Given the description of an element on the screen output the (x, y) to click on. 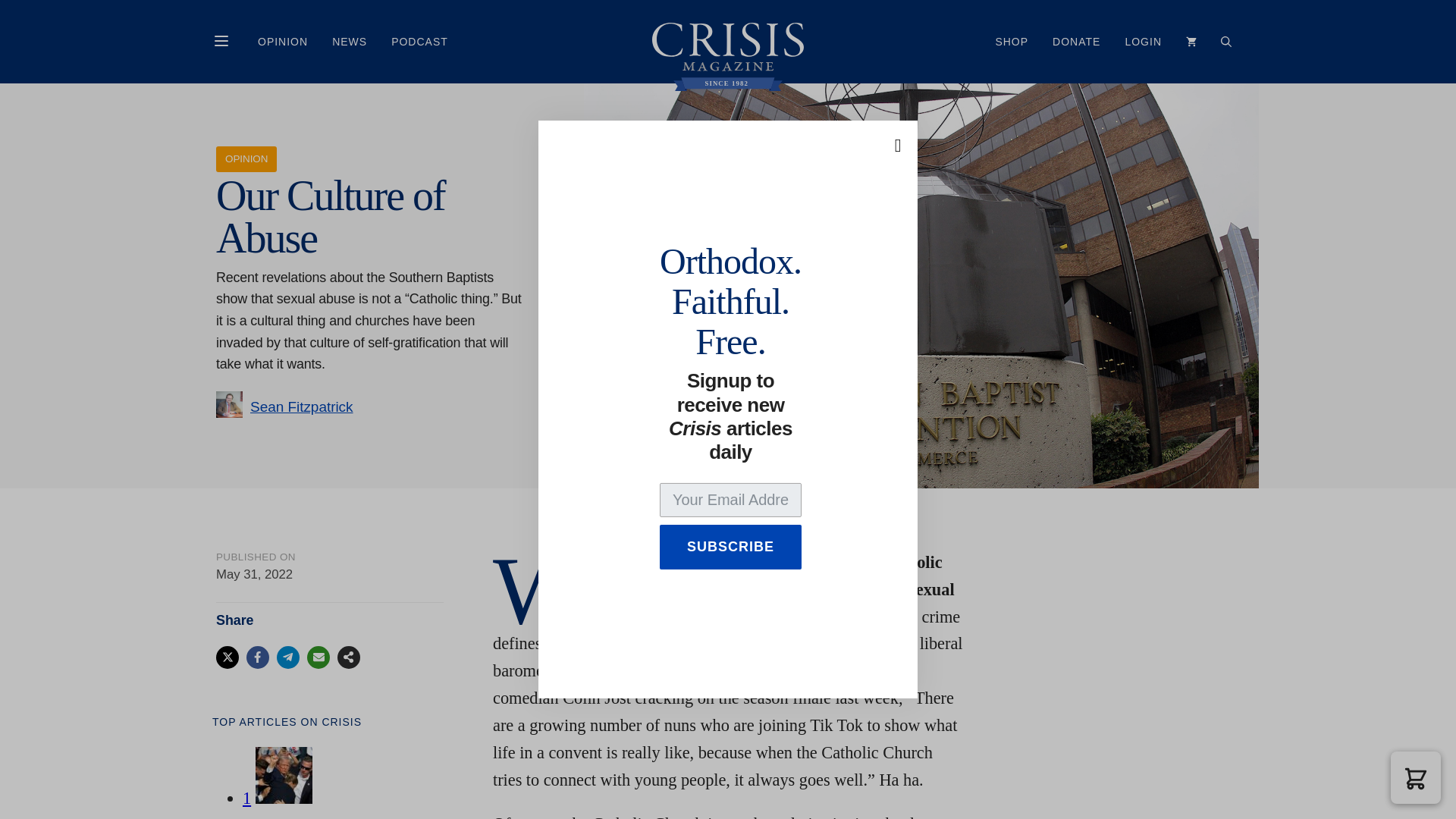
DONATE (1076, 41)
OPINION (283, 41)
SHOP (1011, 41)
LOGIN (1142, 41)
NEWS (349, 41)
Sean Fitzpatrick (301, 406)
PODCAST (419, 41)
